Given the description of an element on the screen output the (x, y) to click on. 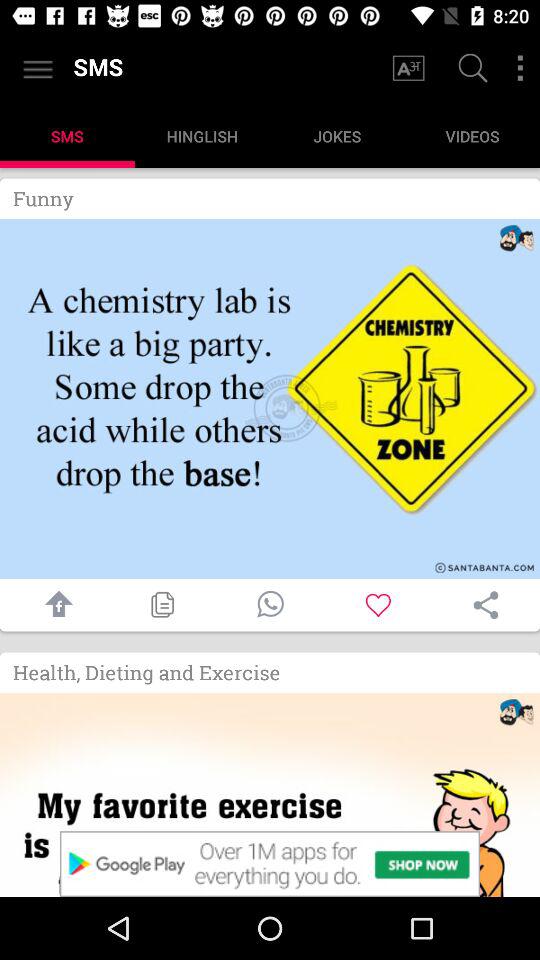
opens up font options (408, 67)
